Given the description of an element on the screen output the (x, y) to click on. 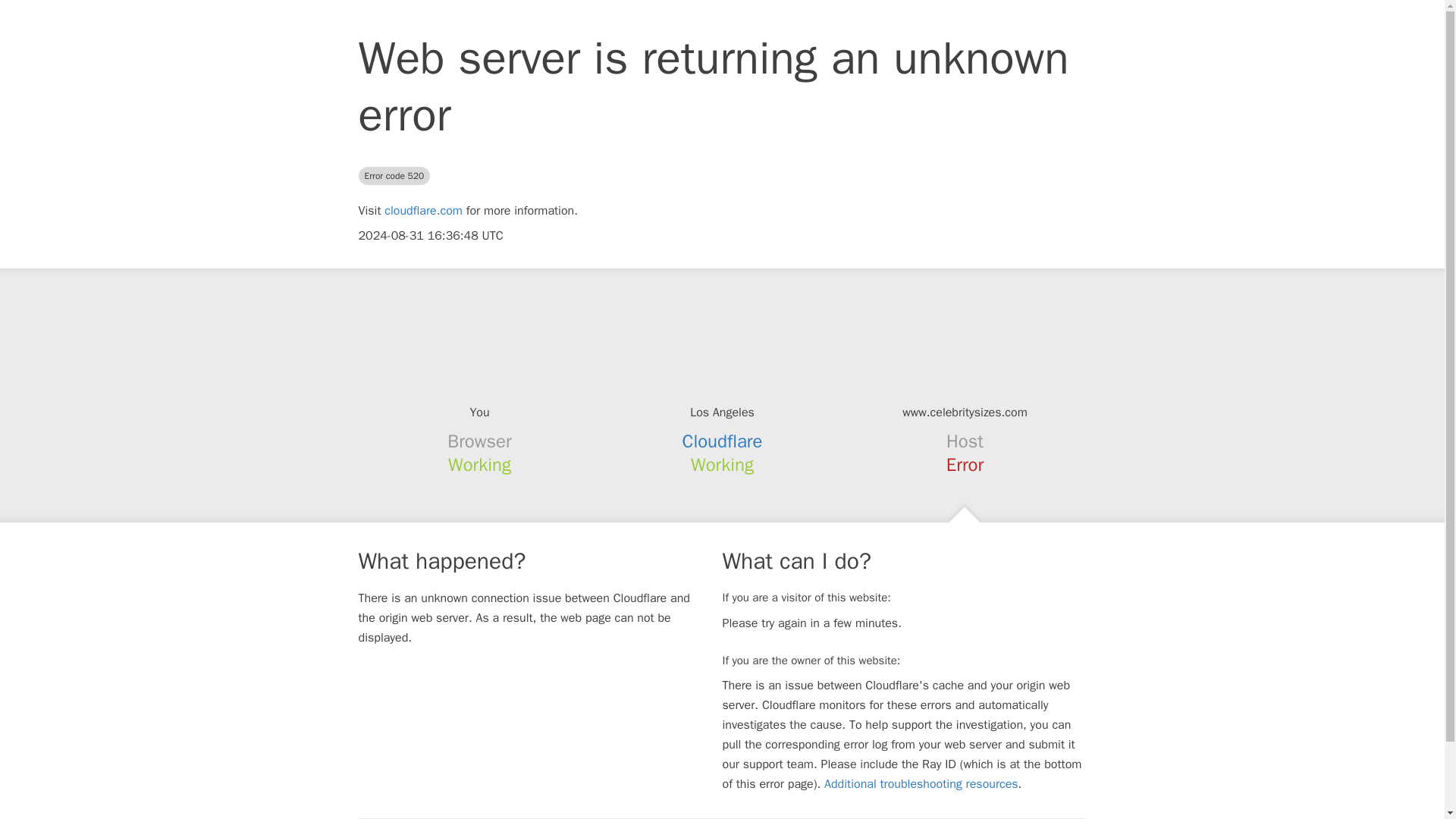
cloudflare.com (423, 210)
Additional troubleshooting resources (920, 783)
Cloudflare (722, 440)
